Given the description of an element on the screen output the (x, y) to click on. 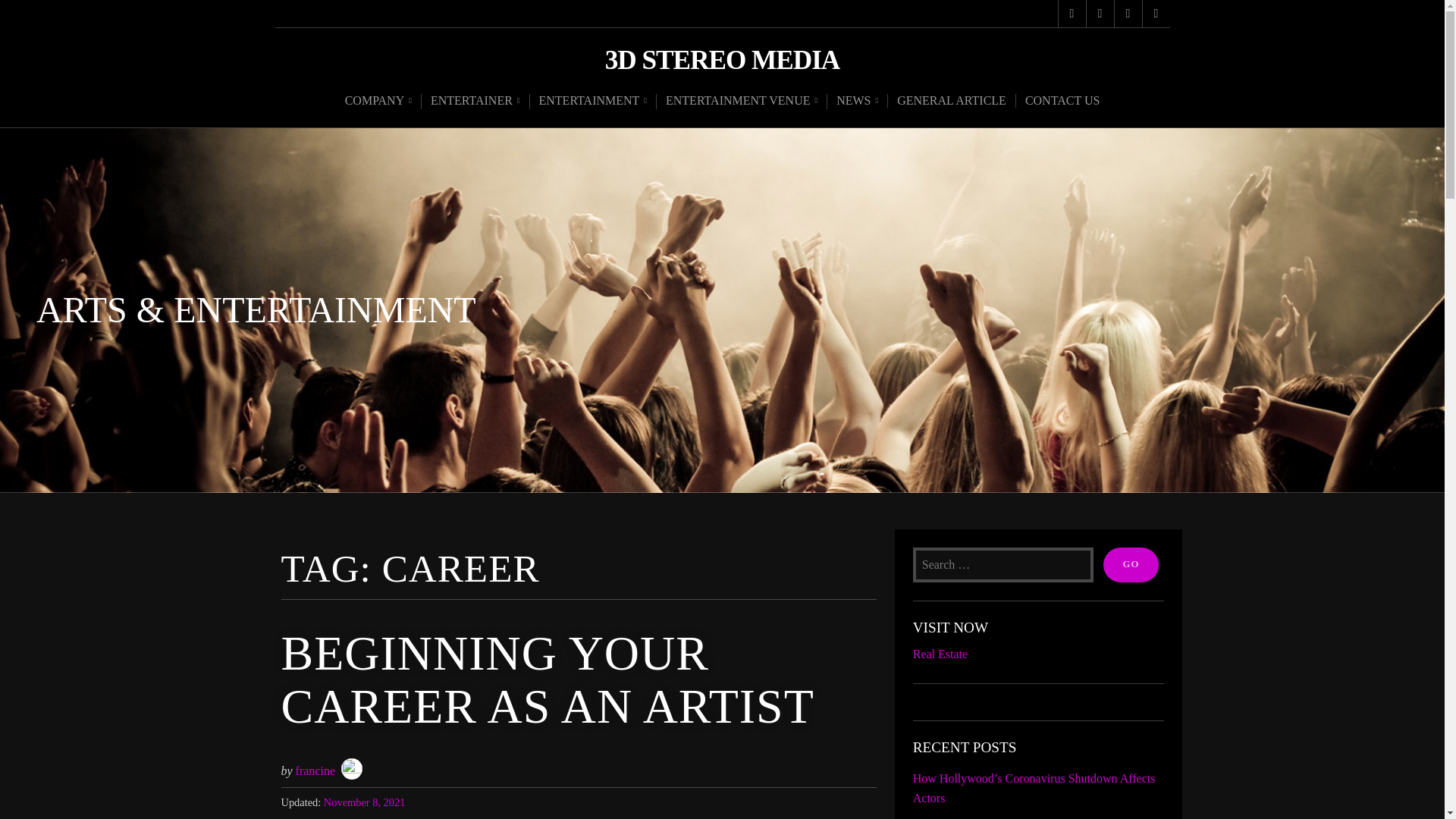
NEWS (856, 101)
ENTERTAINMENT (592, 101)
COMPANY (378, 101)
ENTERTAINMENT VENUE (741, 101)
3D STEREO MEDIA (722, 60)
francine (314, 770)
BEGINNING YOUR CAREER AS AN ARTIST (547, 679)
Posts by francine (314, 770)
5:47 am (364, 802)
CONTACT US (1061, 100)
